Given the description of an element on the screen output the (x, y) to click on. 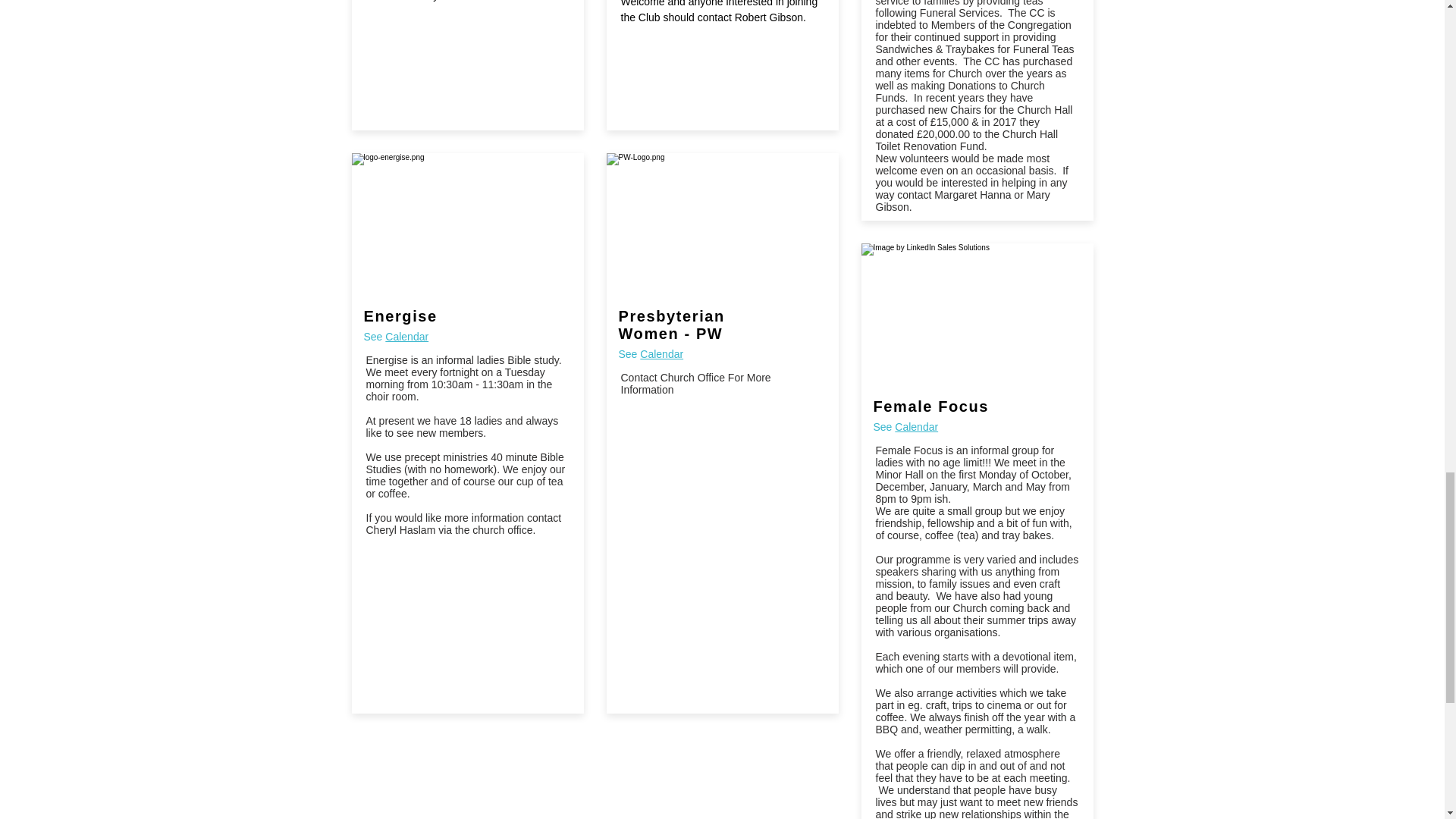
Calendar (916, 426)
Calendar (406, 336)
Calendar (661, 353)
